Given the description of an element on the screen output the (x, y) to click on. 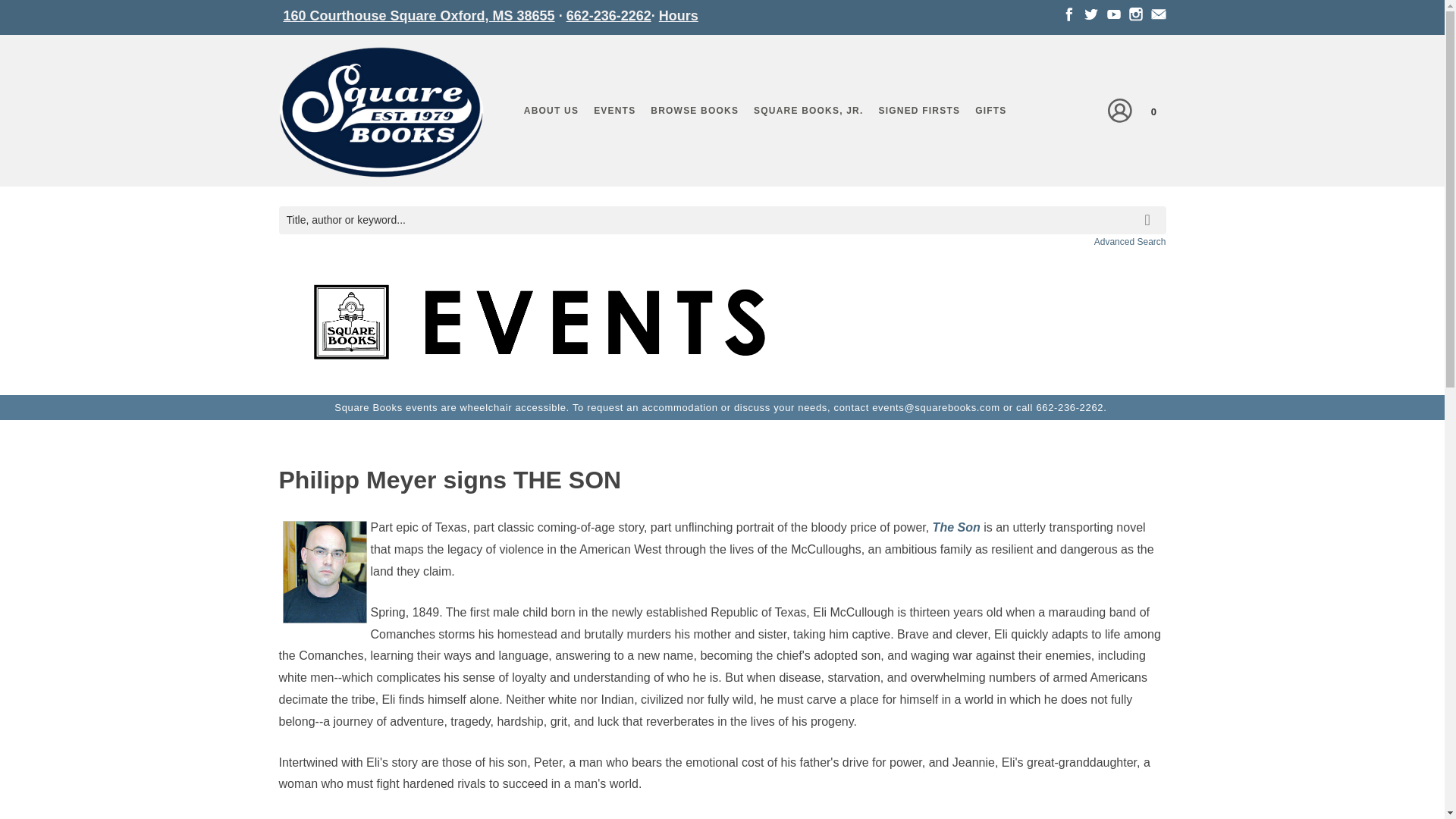
Home (381, 115)
Advanced Search (1130, 241)
search (1150, 209)
ABOUT US (551, 110)
160 Courthouse Square Oxford, MS 38655 (418, 15)
Title, author or keyword... (722, 220)
EVENTS (614, 110)
Hours (678, 15)
BROWSE BOOKS (694, 110)
662-236-2262 (608, 15)
My Account (1120, 109)
SIGNED FIRSTS (919, 110)
SQUARE BOOKS, JR. (807, 110)
GIFTS (990, 110)
